Given the description of an element on the screen output the (x, y) to click on. 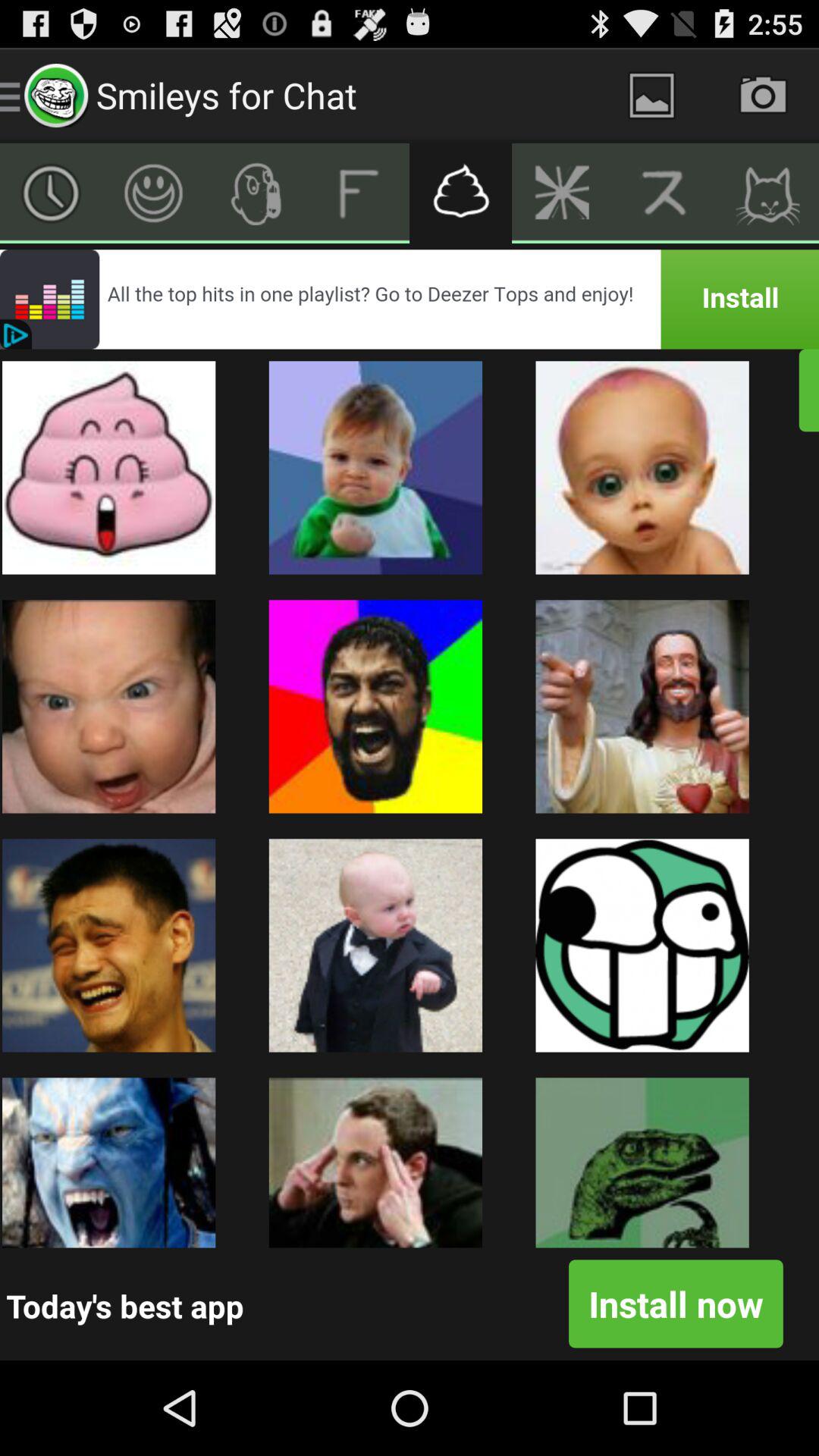
go to recently used smileys (51, 193)
